Given the description of an element on the screen output the (x, y) to click on. 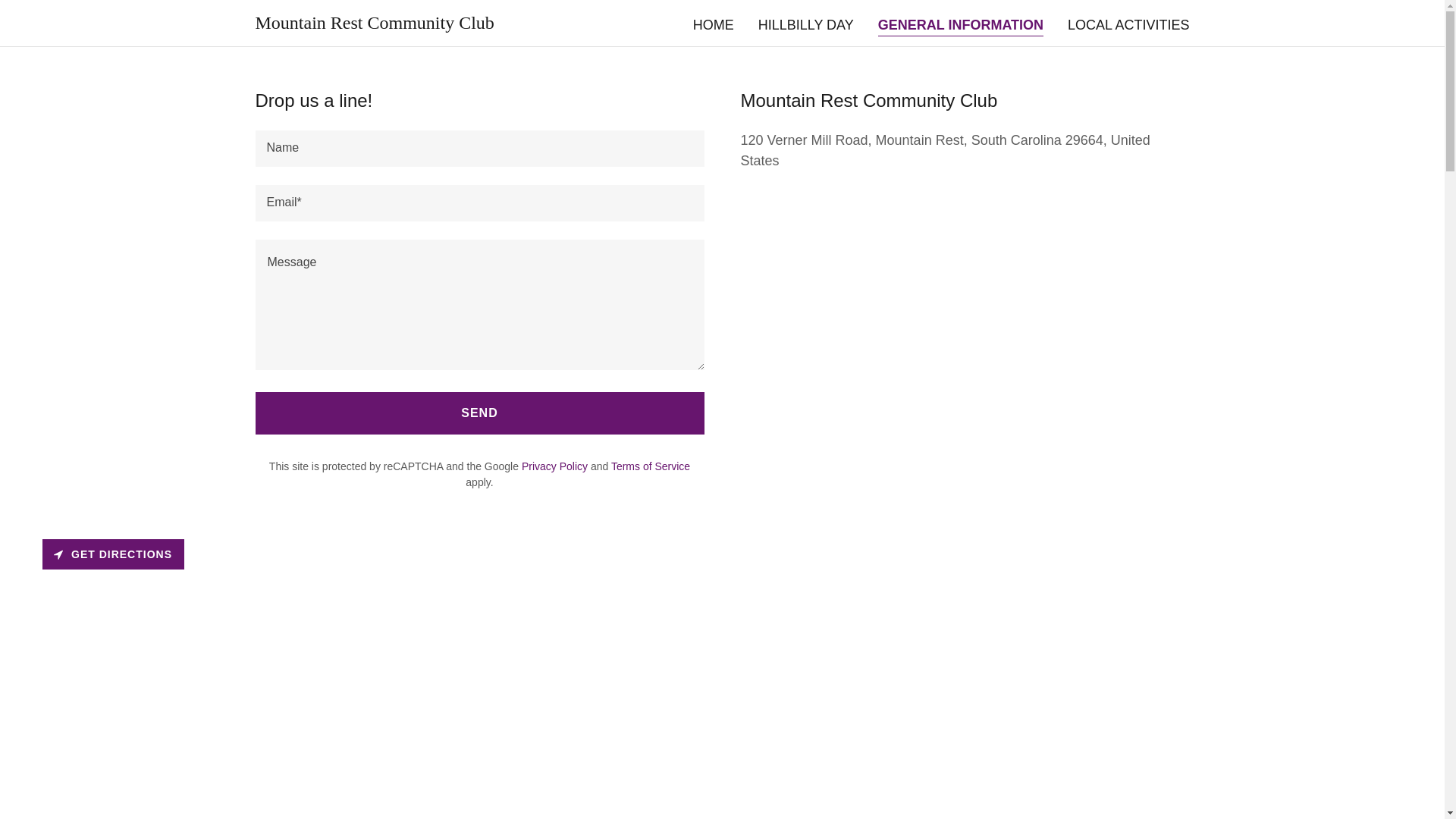
Terms of Service (650, 466)
SEND (478, 413)
LOCAL ACTIVITIES (1127, 24)
Mountain Rest Community Club (373, 23)
Mountain Rest Community Club (373, 23)
GET DIRECTIONS (113, 553)
GENERAL INFORMATION (960, 25)
HILLBILLY DAY (806, 24)
HOME (713, 24)
Privacy Policy (554, 466)
